Given the description of an element on the screen output the (x, y) to click on. 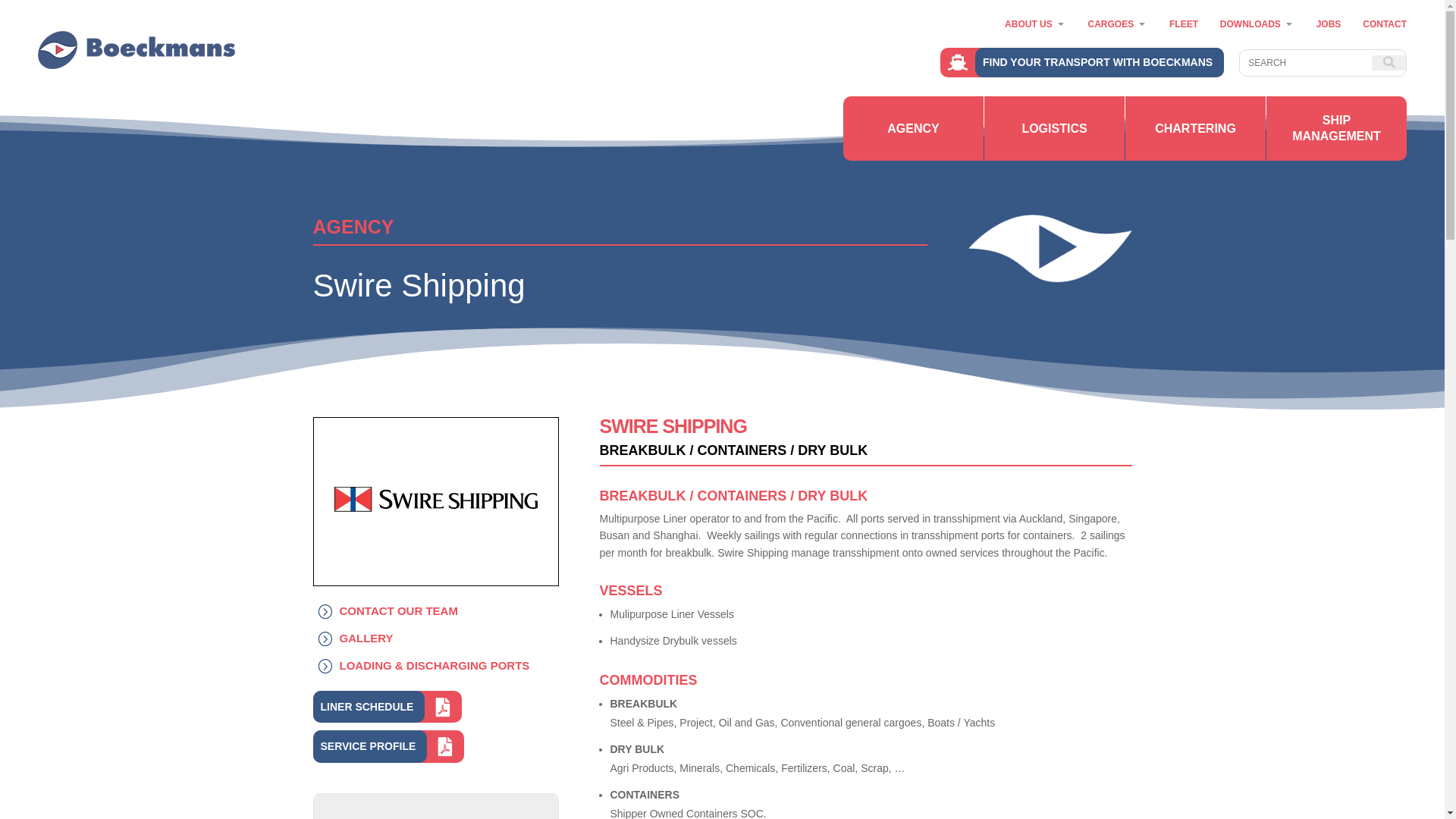
SERVICE PROFILE Element type: text (388, 746)
LOGISTICS Element type: text (1054, 128)
FIND YOUR TRANSPORT WITH BOECKMANS Element type: text (1081, 61)
CHARTERING Element type: text (1195, 128)
LINER SCHEDULE Element type: text (386, 706)
LOADING & DISCHARGING PORTS Element type: text (426, 664)
CONTACT Element type: text (1384, 23)
FLEET Element type: text (1183, 23)
JOBS Element type: text (1328, 23)
GALLERY Element type: text (358, 637)
CONTACT OUR TEAM Element type: text (391, 610)
CARGOES Element type: text (1110, 23)
AGENCY Element type: text (913, 128)
ABOUT US Element type: text (1028, 23)
SHIP MANAGEMENT Element type: text (1336, 128)
DOWNLOADS Element type: text (1250, 23)
